Given the description of an element on the screen output the (x, y) to click on. 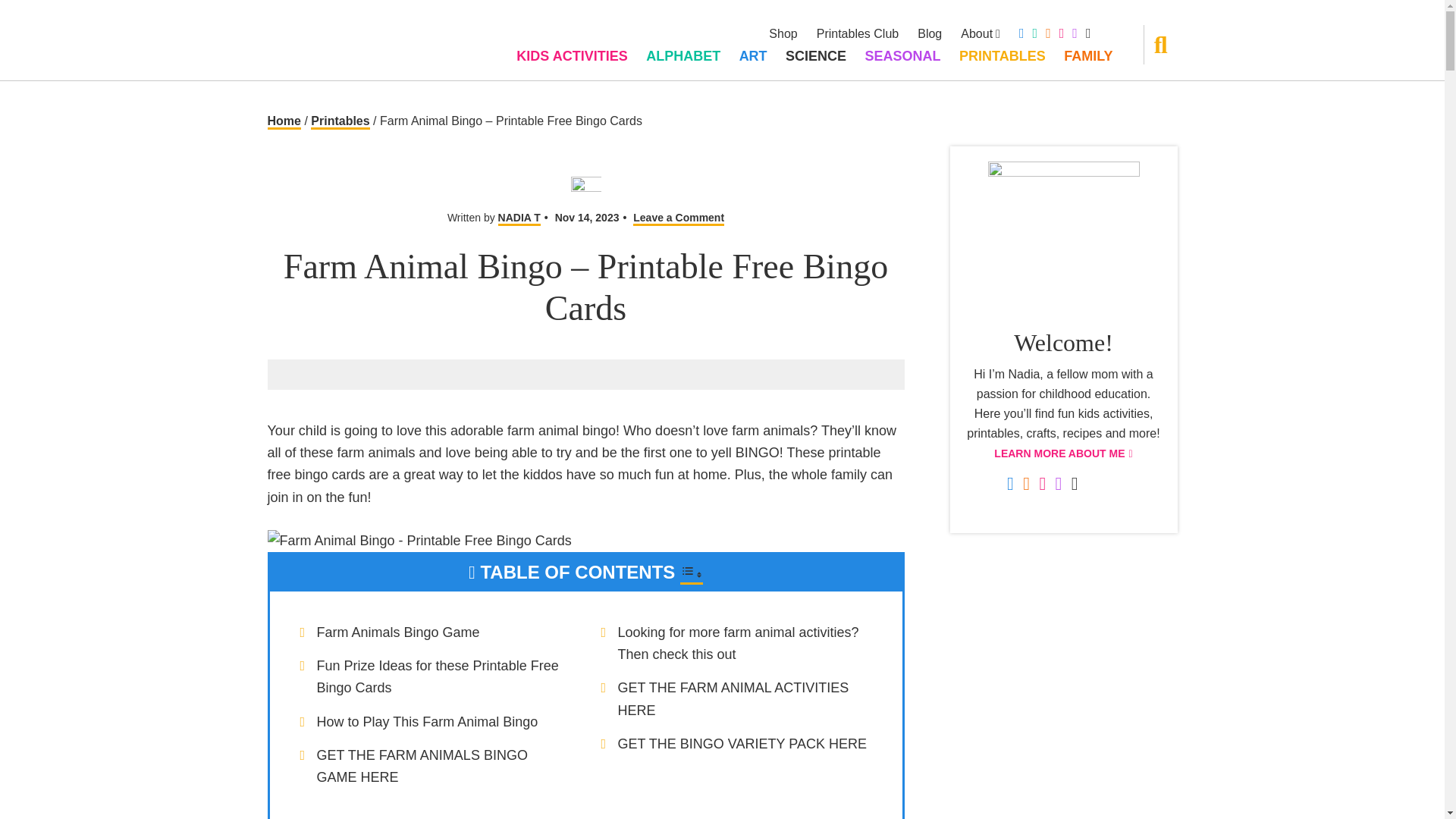
About (980, 33)
GET THE BINGO VARIETY PACK HERE (741, 743)
Farm Animals Bingo Game (398, 631)
Blog (929, 33)
How to Play This Farm Animal Bingo (427, 721)
Looking for more farm animal activities? Then check this out (738, 642)
KIDS ACTIVITIES (571, 56)
GET THE FARM ANIMAL ACTIVITIES HERE (732, 698)
Shop (782, 33)
Fun with Mama (323, 37)
GET THE FARM ANIMALS BINGO GAME HERE (422, 765)
ALPHABET (683, 56)
Printables Club (857, 33)
